Given the description of an element on the screen output the (x, y) to click on. 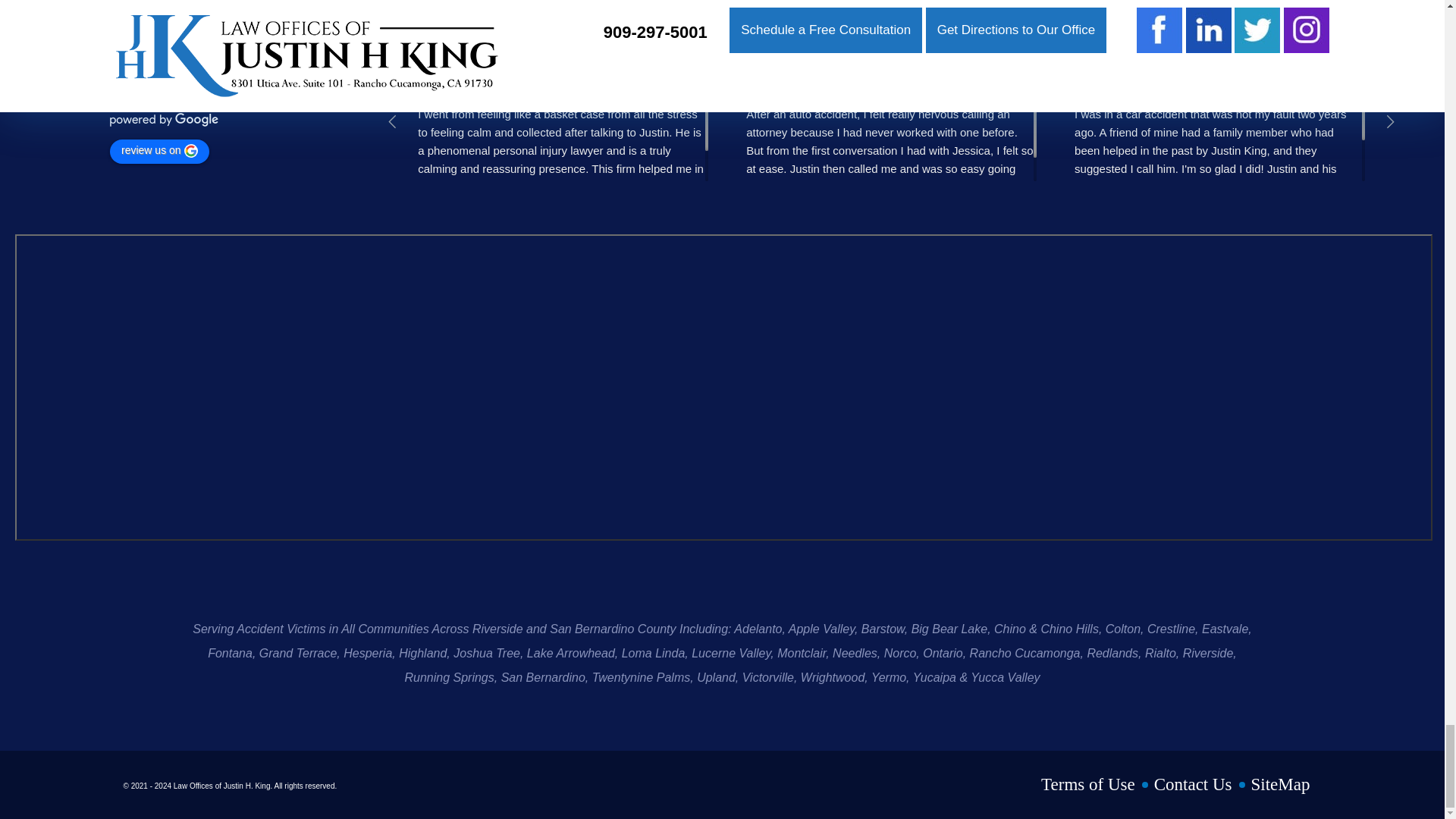
Marjorie Harris (764, 53)
Sheila Hughes (1093, 53)
powered by Google (164, 119)
Melinda Jordan (436, 53)
Margaret James (1422, 53)
The Law Offices of Justin H. King (82, 73)
